Given the description of an element on the screen output the (x, y) to click on. 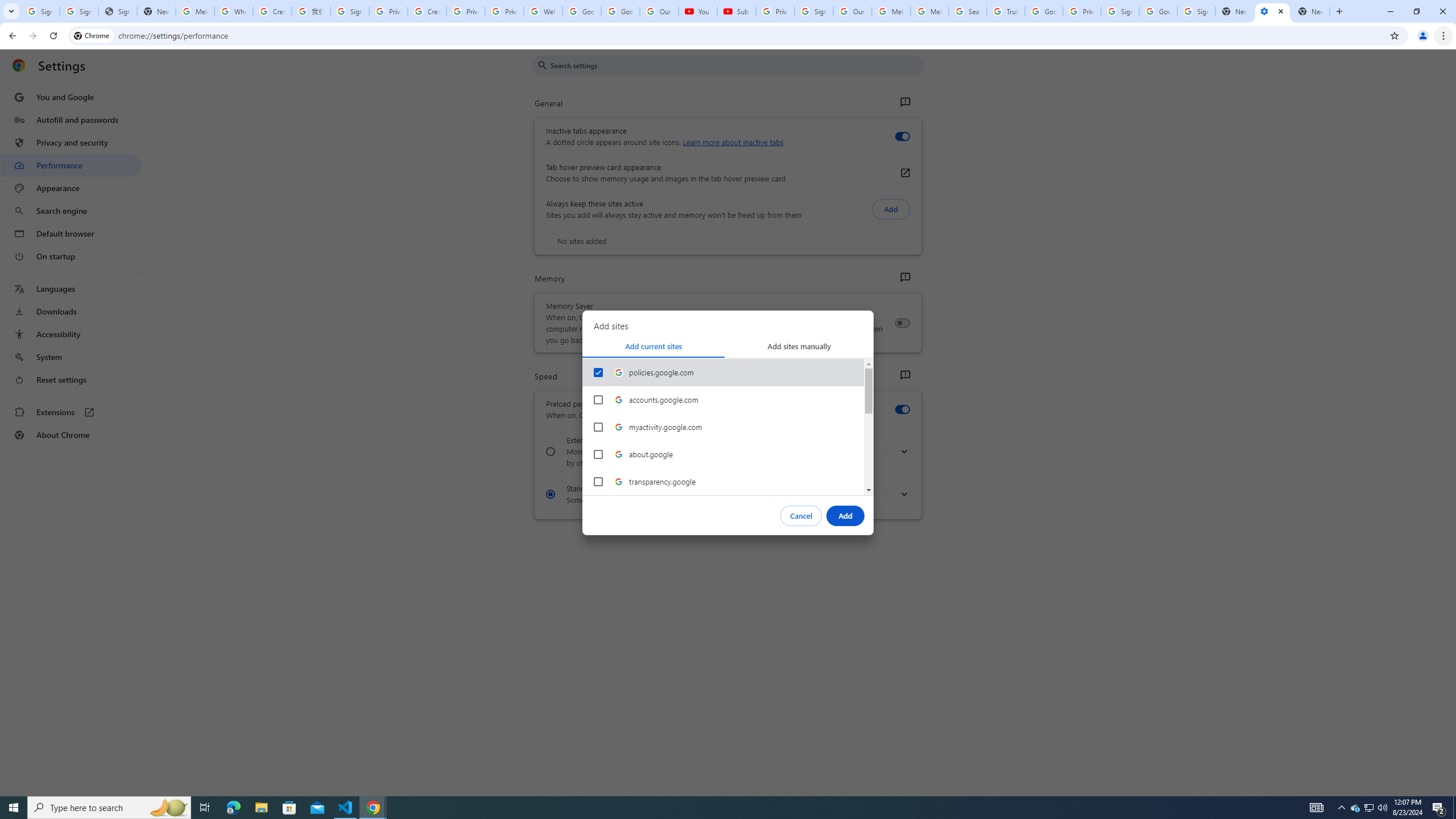
policies.google.com (598, 371)
Cancel (801, 515)
Sign in - Google Accounts (349, 11)
